Given the description of an element on the screen output the (x, y) to click on. 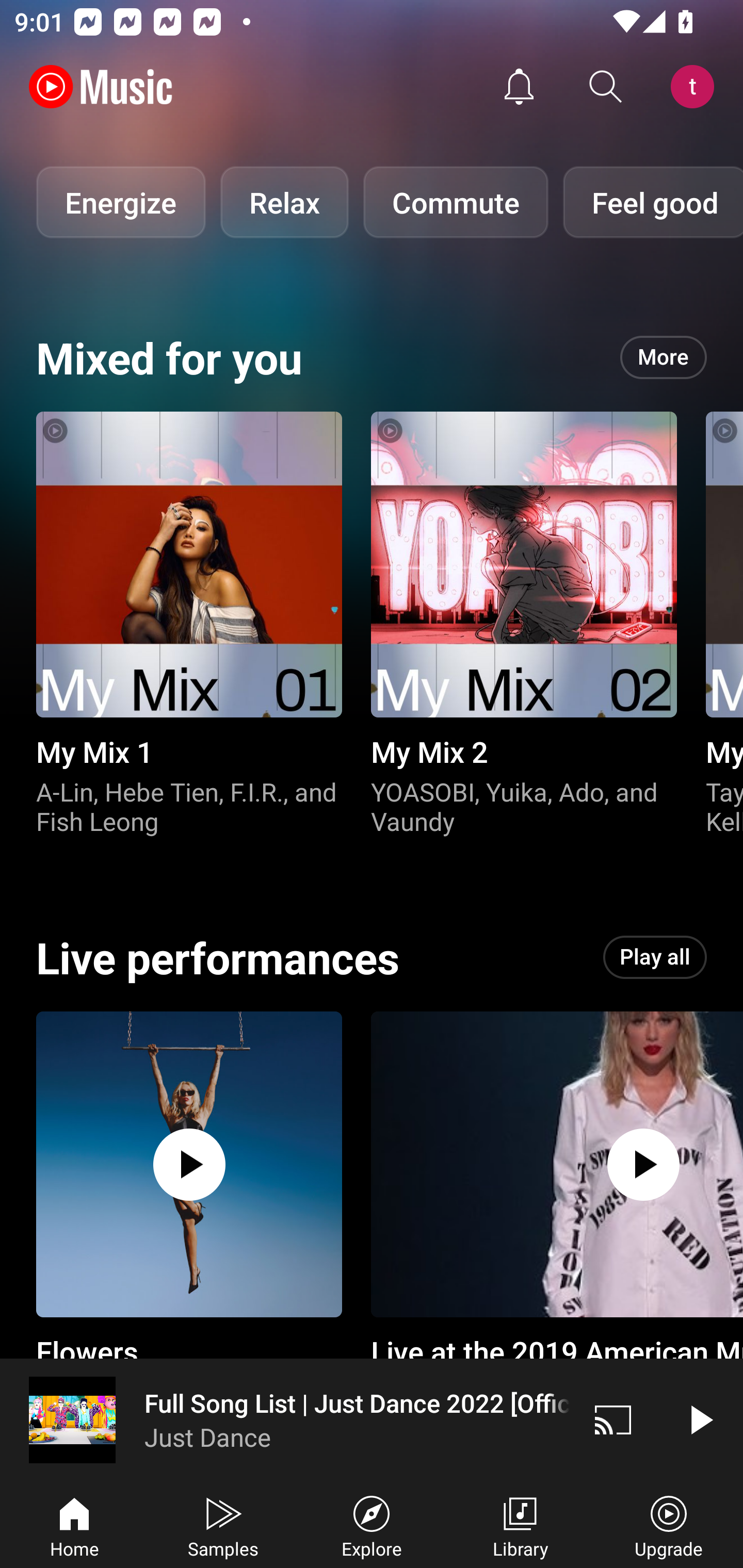
Activity feed (518, 86)
Search (605, 86)
Account (696, 86)
Cast. Disconnected (612, 1419)
Play video (699, 1419)
Home (74, 1524)
Samples (222, 1524)
Explore (371, 1524)
Library (519, 1524)
Upgrade (668, 1524)
